Given the description of an element on the screen output the (x, y) to click on. 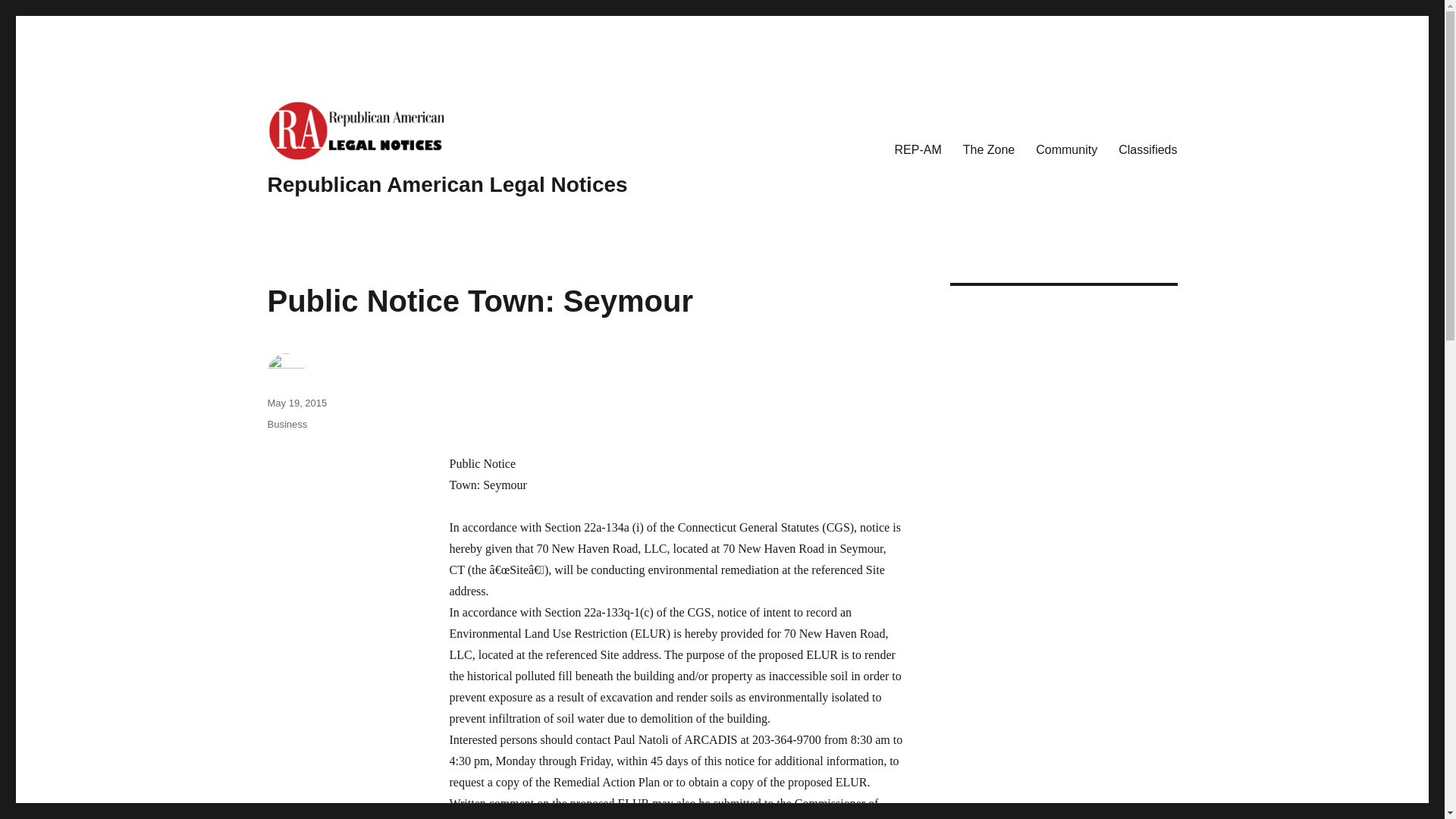
Republican American Legal Notices (446, 184)
3rd party ad content (676, 391)
Community (1066, 149)
The Zone (988, 149)
Business (286, 423)
Classifieds (1148, 149)
May 19, 2015 (296, 402)
REP-AM (917, 149)
